Given the description of an element on the screen output the (x, y) to click on. 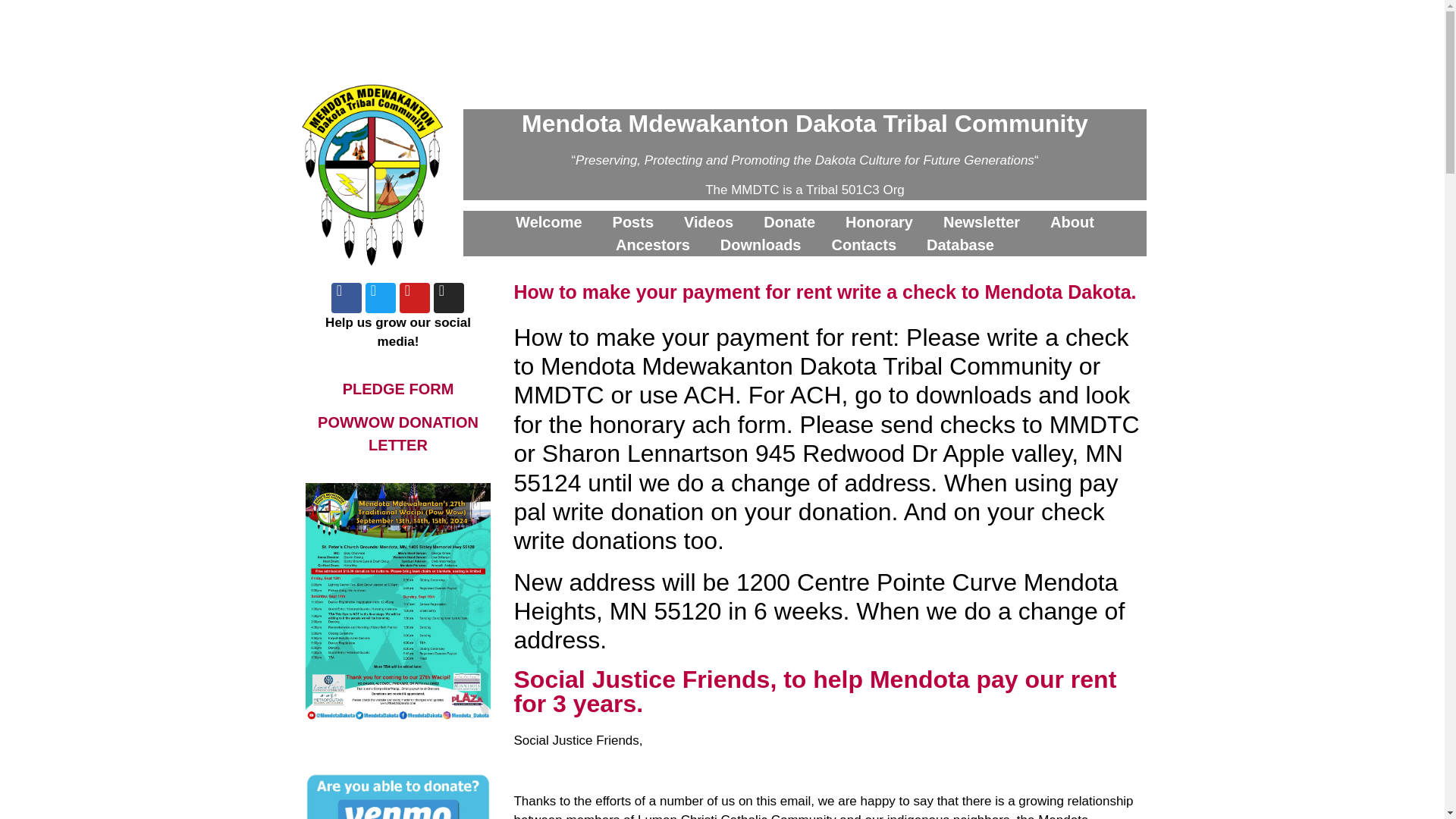
Downloads (760, 244)
Ancestors (651, 244)
POWWOW DONATION LETTER (398, 433)
PLEDGE FORM (398, 388)
Honorary (878, 221)
Welcome (548, 221)
Posts (632, 221)
Database (960, 244)
Videos (708, 221)
Contacts (863, 244)
Donate (788, 221)
Newsletter (981, 221)
About (1072, 221)
